Given the description of an element on the screen output the (x, y) to click on. 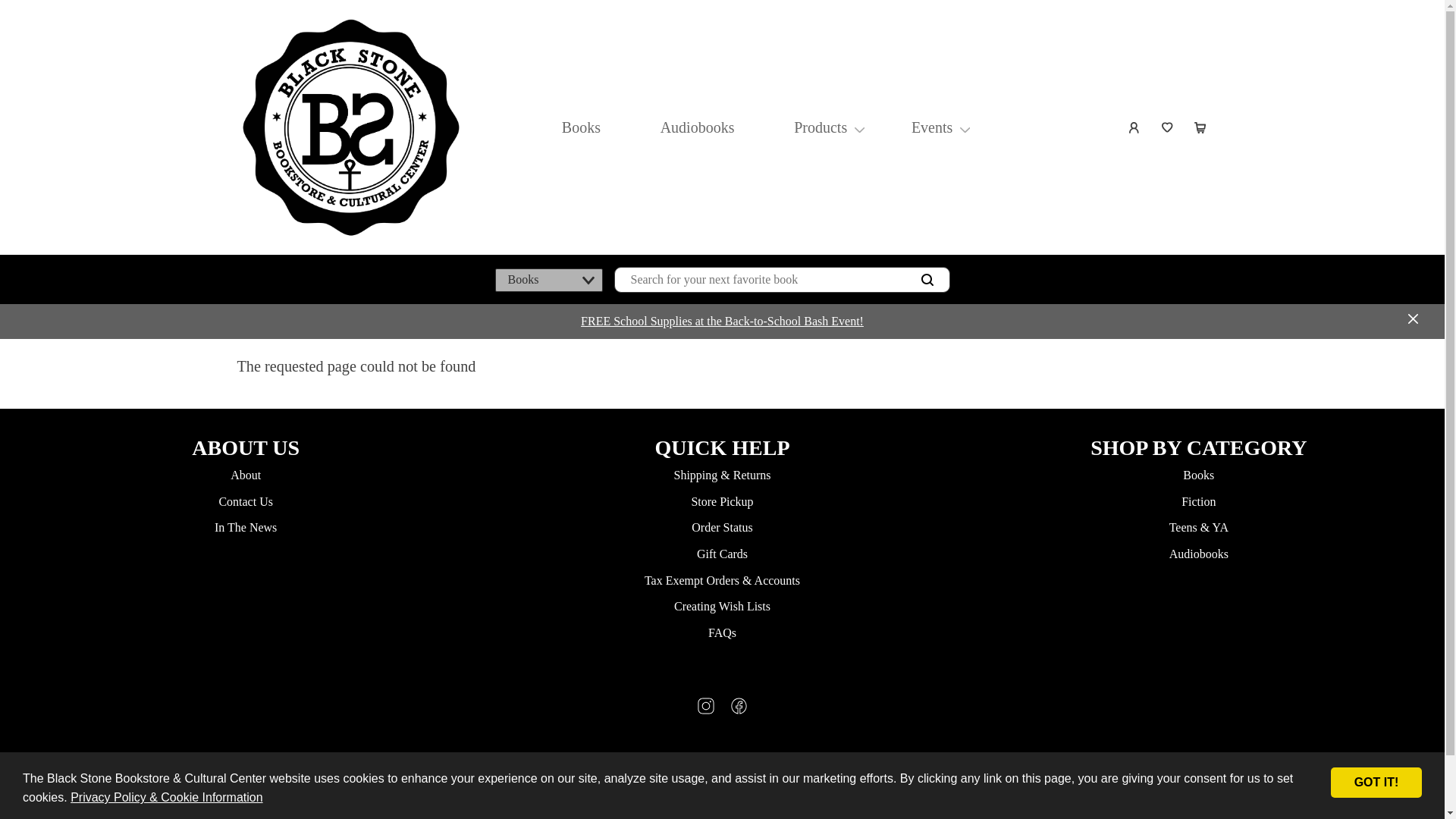
Cart (1201, 127)
SEARCH (926, 279)
Connect with Facebook (738, 709)
Log in (1134, 127)
Contact Us (245, 501)
Gift Cards (722, 553)
Wishlists (1168, 127)
Books (1198, 474)
FAQs (721, 632)
Log in (1134, 127)
